Given the description of an element on the screen output the (x, y) to click on. 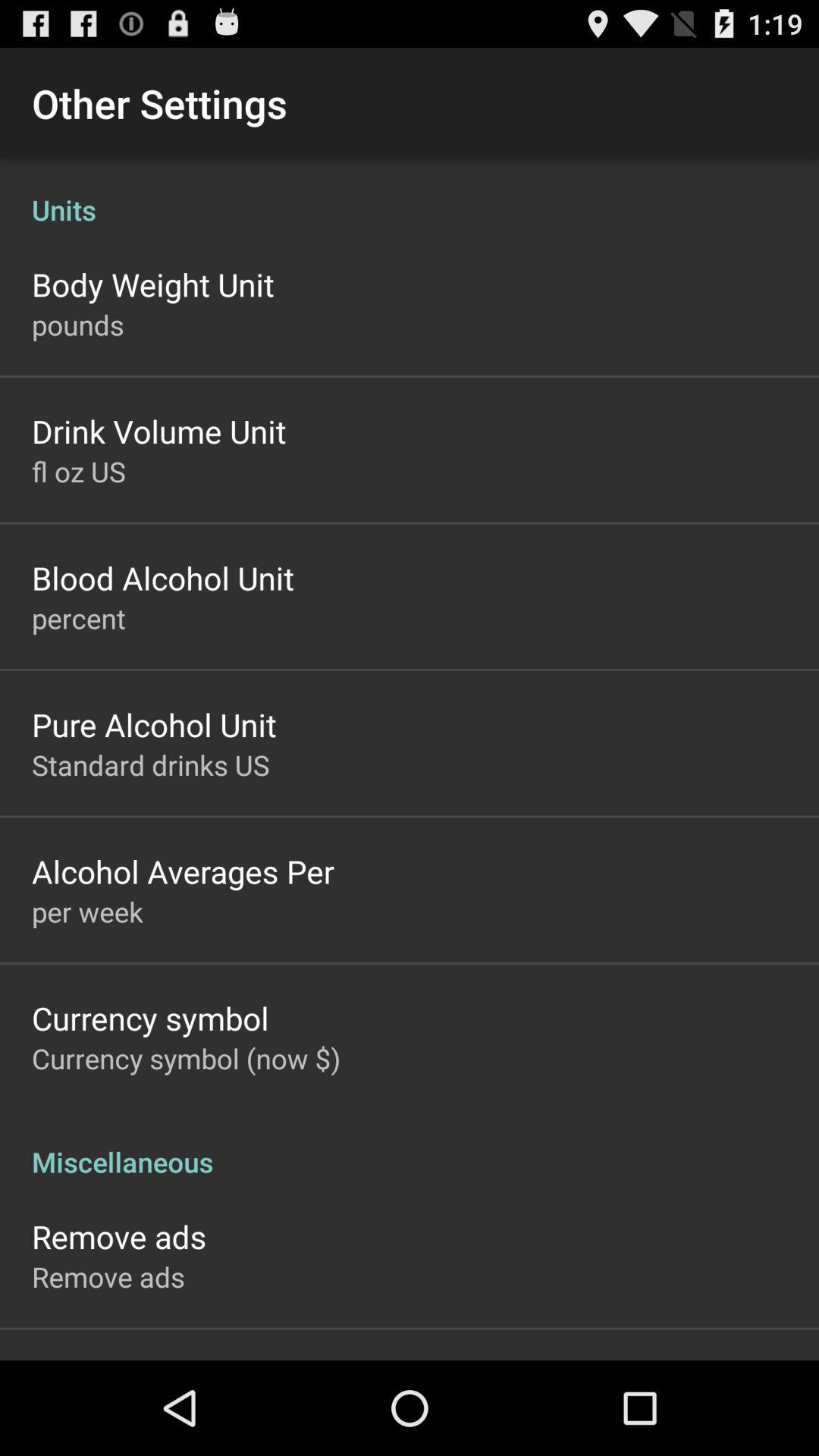
turn off the icon above the currency symbol app (87, 911)
